Given the description of an element on the screen output the (x, y) to click on. 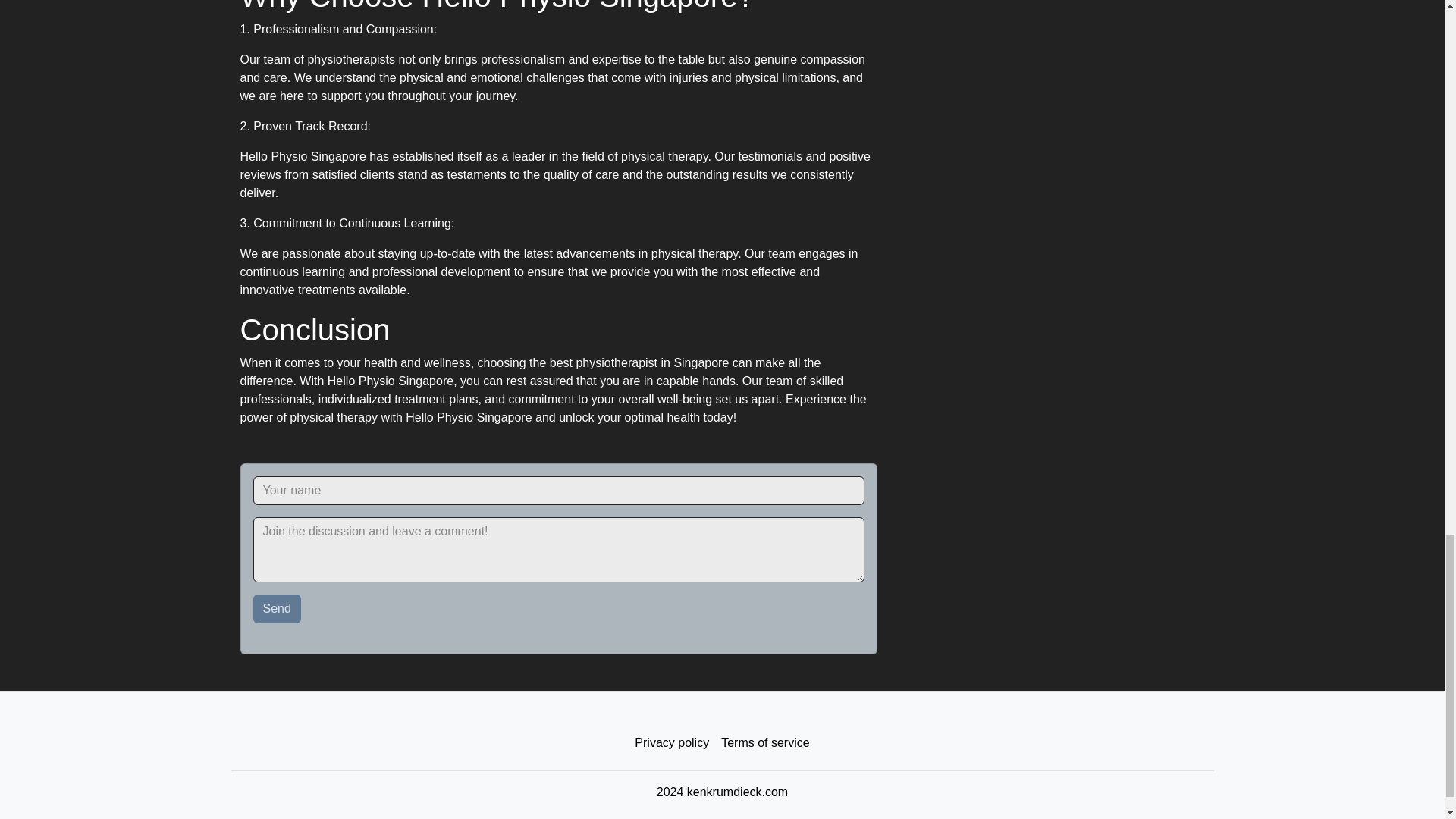
Terms of service (764, 743)
Send (277, 608)
Privacy policy (671, 743)
Send (277, 608)
